Given the description of an element on the screen output the (x, y) to click on. 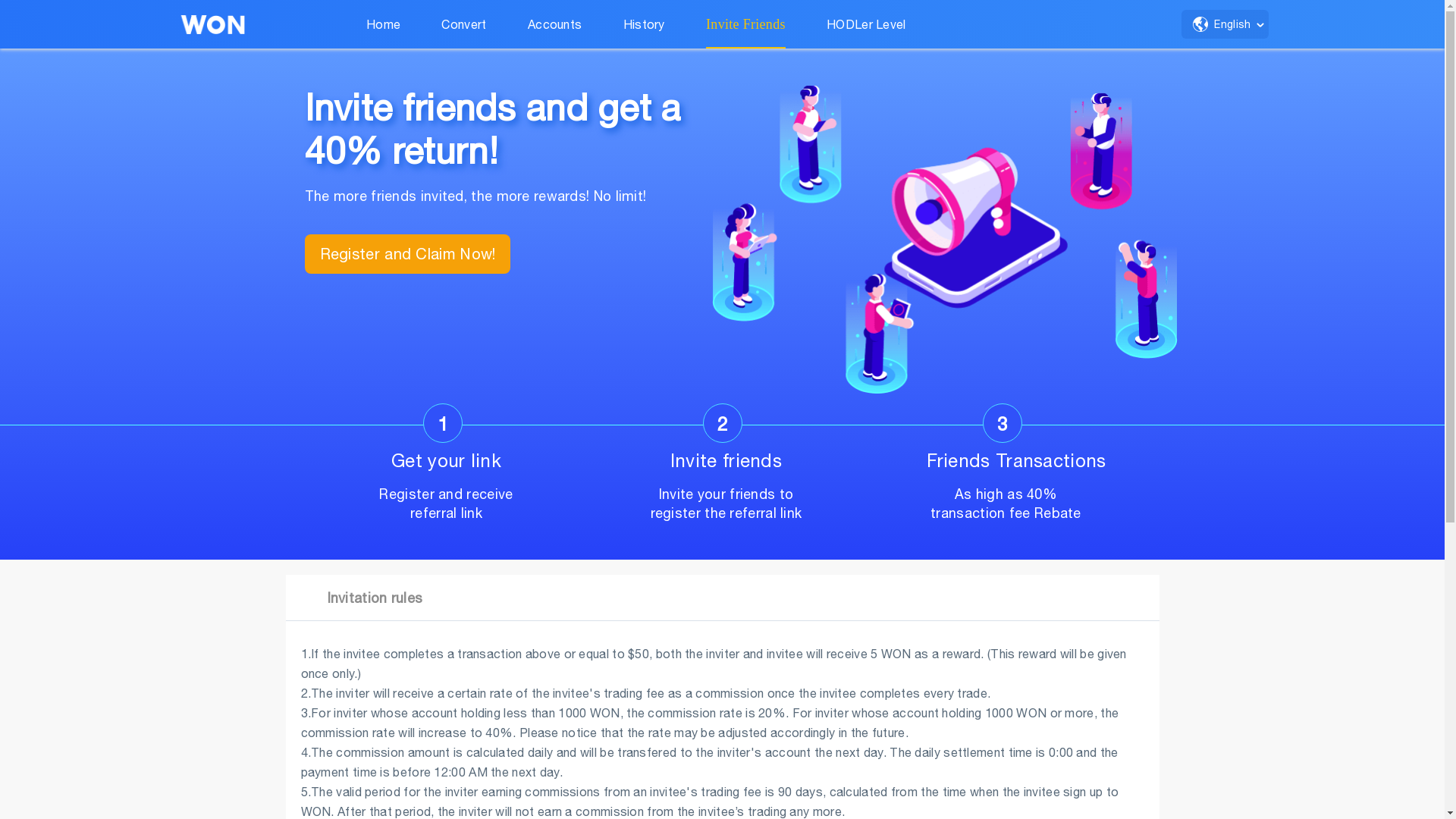
Convert Element type: text (463, 24)
History Element type: text (644, 24)
Home Element type: text (383, 24)
Accounts Element type: text (554, 24)
Invite Friends Element type: text (745, 24)
HODLer Level Element type: text (866, 24)
Register and Claim Now! Element type: text (407, 253)
